Given the description of an element on the screen output the (x, y) to click on. 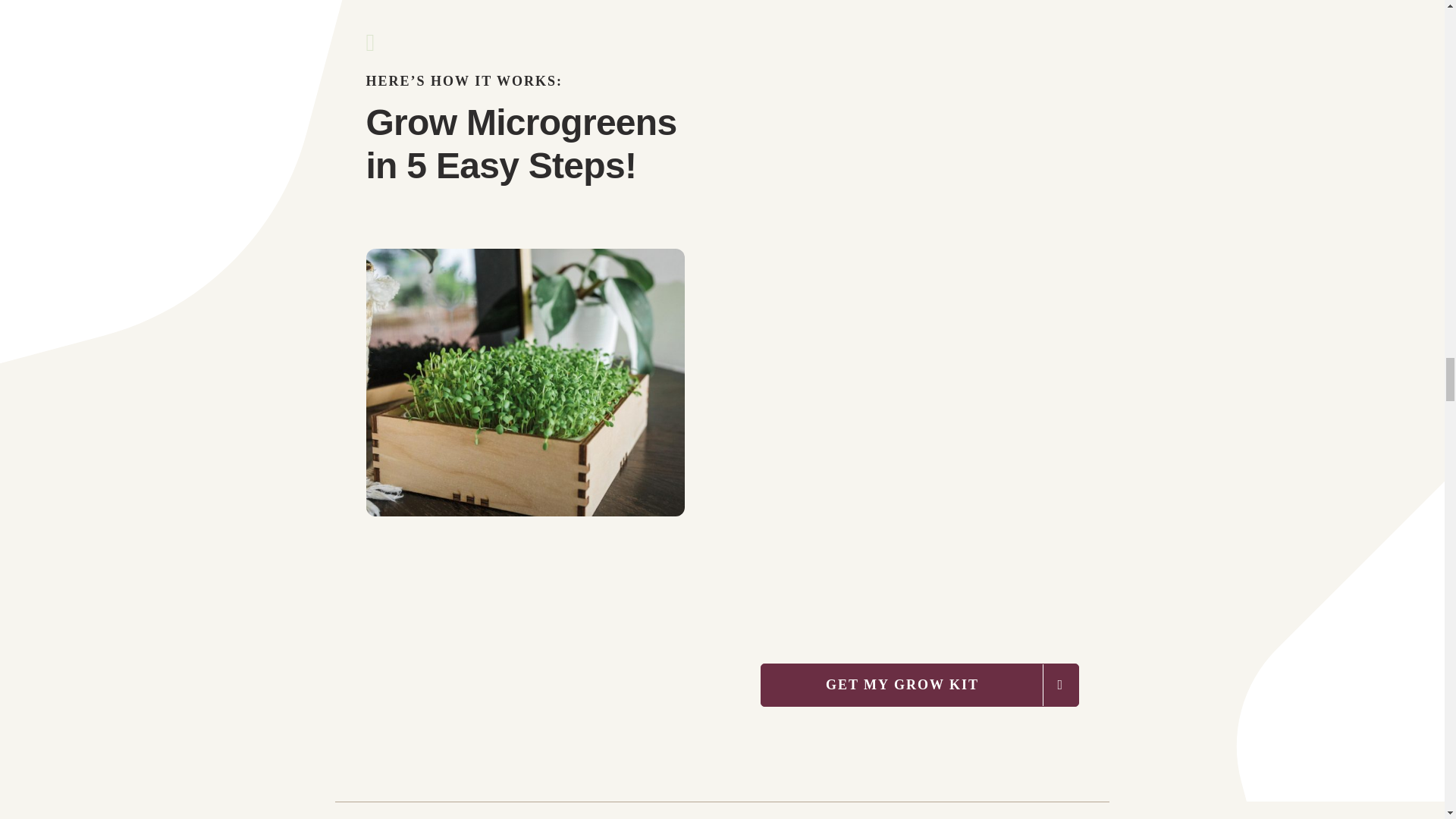
GET MY GROW KIT (919, 684)
